Given the description of an element on the screen output the (x, y) to click on. 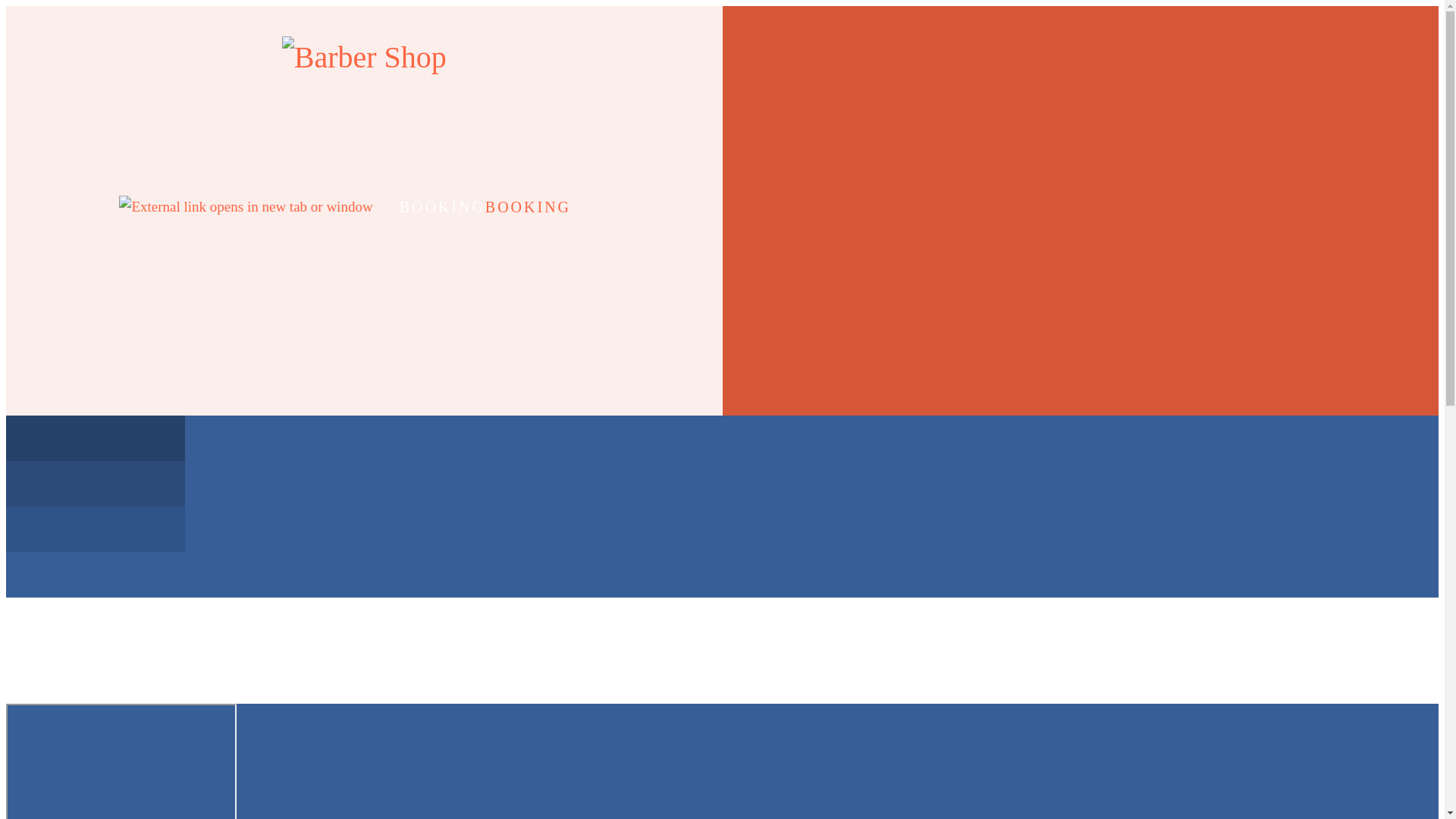
Go to site home page Element type: hover (364, 57)
Go to site home page Element type: hover (364, 57)
BOOKINGBOOKING Element type: text (363, 206)
